Given the description of an element on the screen output the (x, y) to click on. 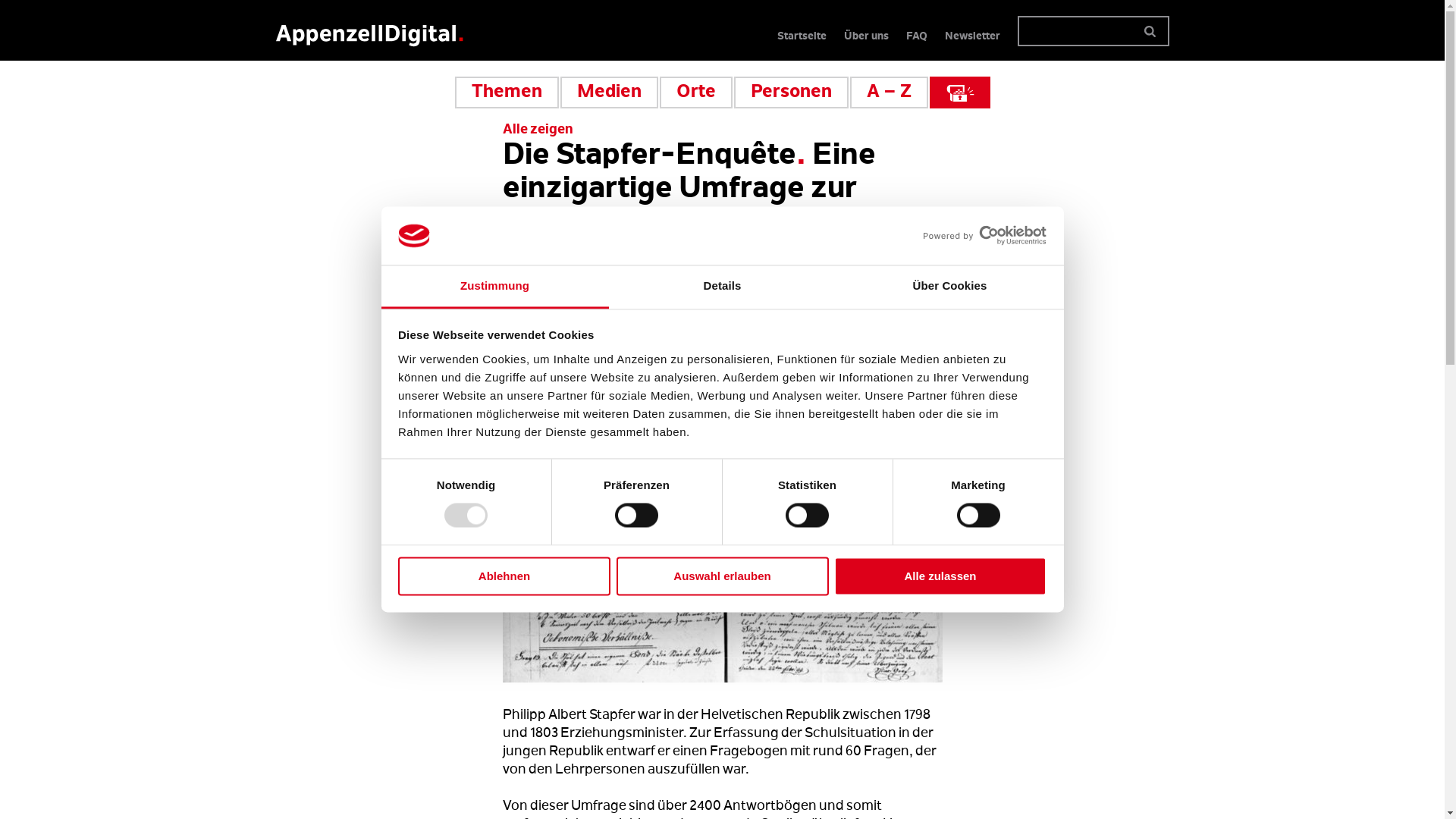
Personen Element type: text (791, 92)
Alle zulassen Element type: text (940, 575)
Alle zeigen Element type: text (537, 130)
Medien Element type: text (608, 92)
Orte Element type: text (695, 92)
Startseite Element type: text (800, 36)
Newsletter Element type: text (972, 36)
Ablehnen Element type: text (504, 575)
Zustimmung Element type: text (494, 286)
Auswahl erlauben Element type: text (721, 575)
FAQ Element type: text (915, 36)
Themen Element type: text (506, 92)
Details Element type: text (721, 286)
